Given the description of an element on the screen output the (x, y) to click on. 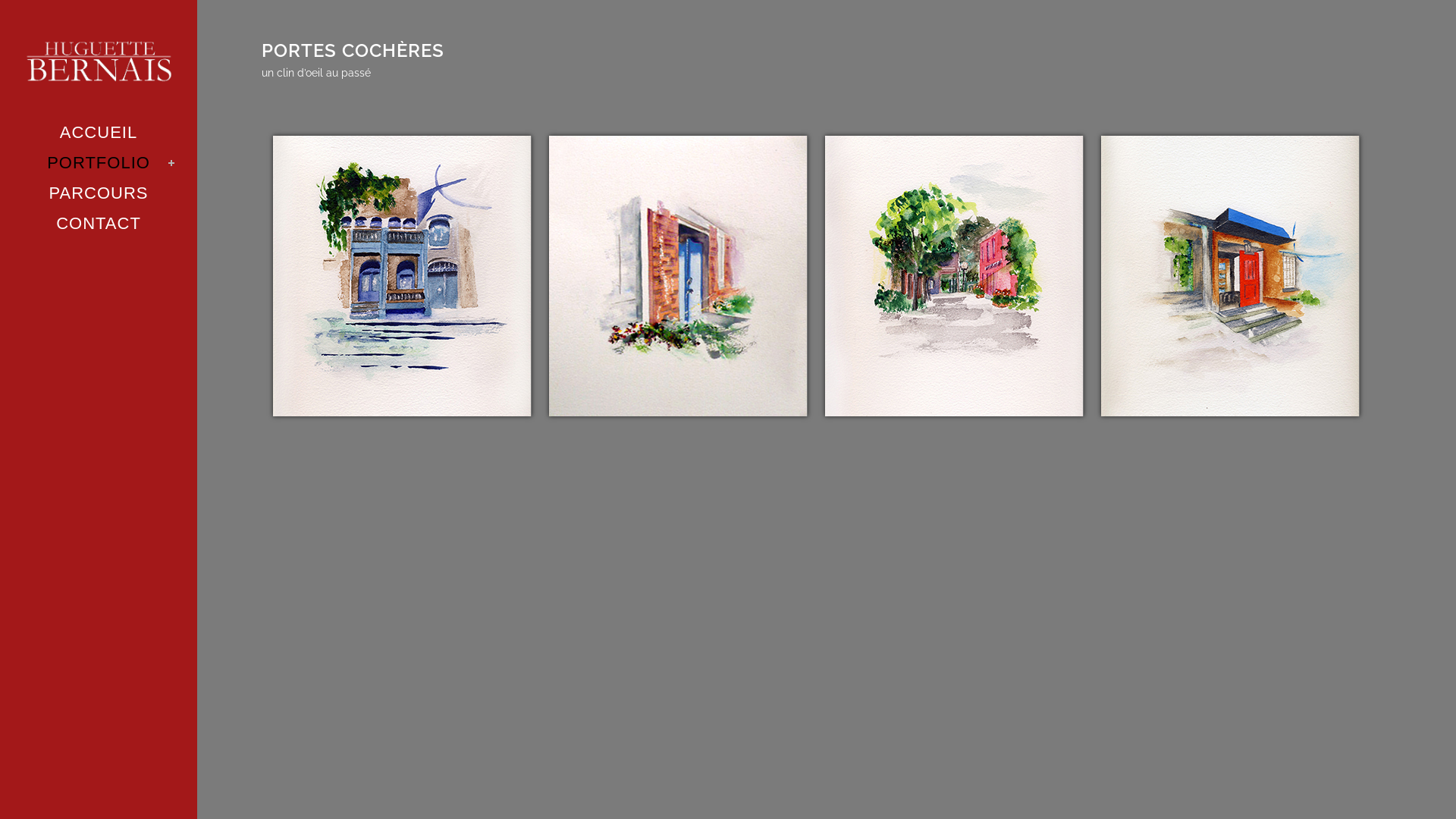
PORTFOLIO Element type: text (98, 162)
CONTACT Element type: text (98, 223)
PARCOURS Element type: text (98, 193)
ACCUEIL Element type: text (98, 132)
